Given the description of an element on the screen output the (x, y) to click on. 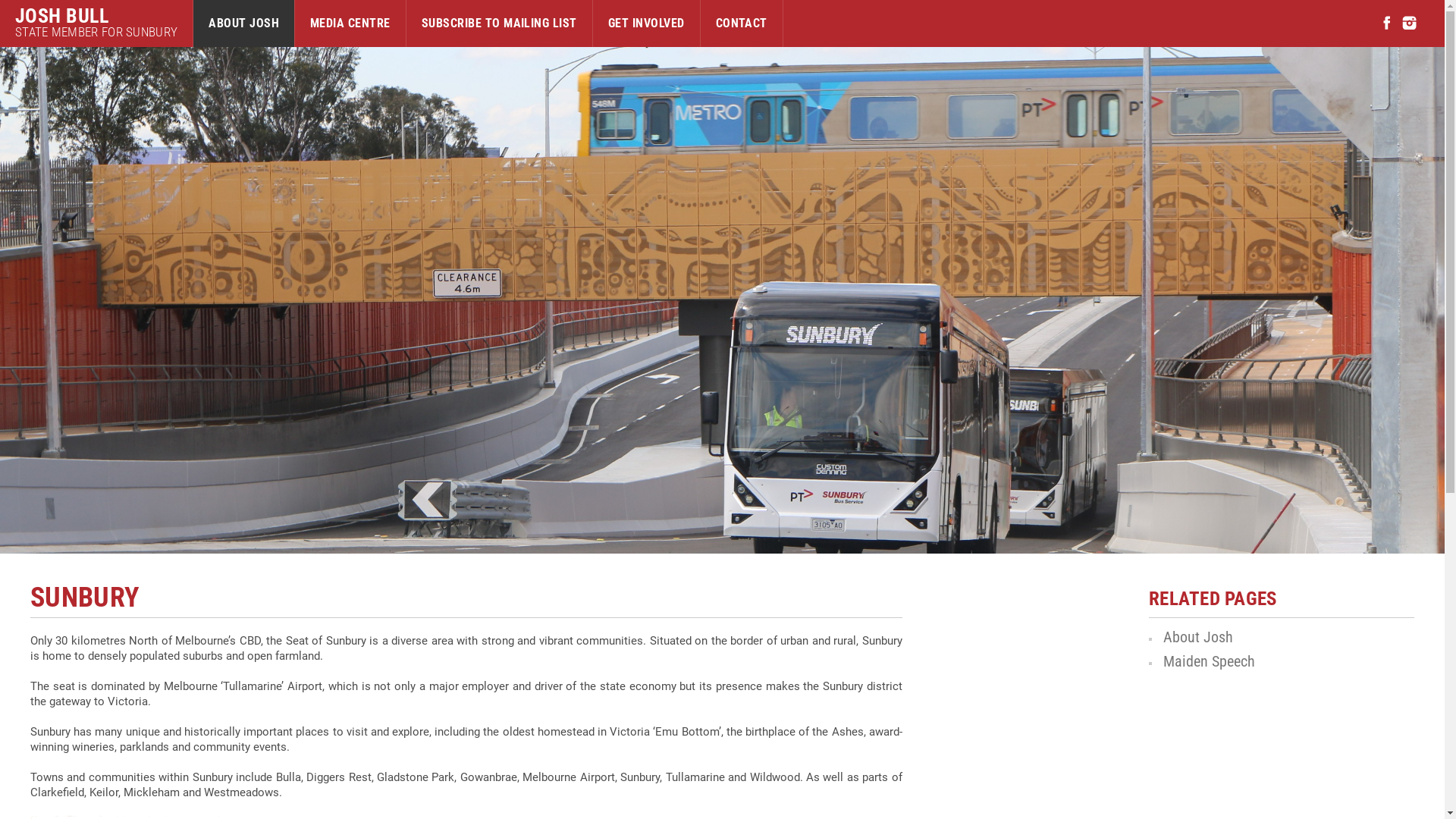
SUBSCRIBE TO MAILING LIST Element type: text (499, 23)
About Josh Element type: text (1198, 636)
ABOUT JOSH Element type: text (243, 23)
Maiden Speech Element type: text (1209, 661)
STATE MEMBER FOR SUNBURY Element type: text (96, 31)
CONTACT Element type: text (741, 23)
GET INVOLVED Element type: text (646, 23)
JOSH BULL Element type: text (96, 15)
MEDIA CENTRE Element type: text (349, 23)
